Given the description of an element on the screen output the (x, y) to click on. 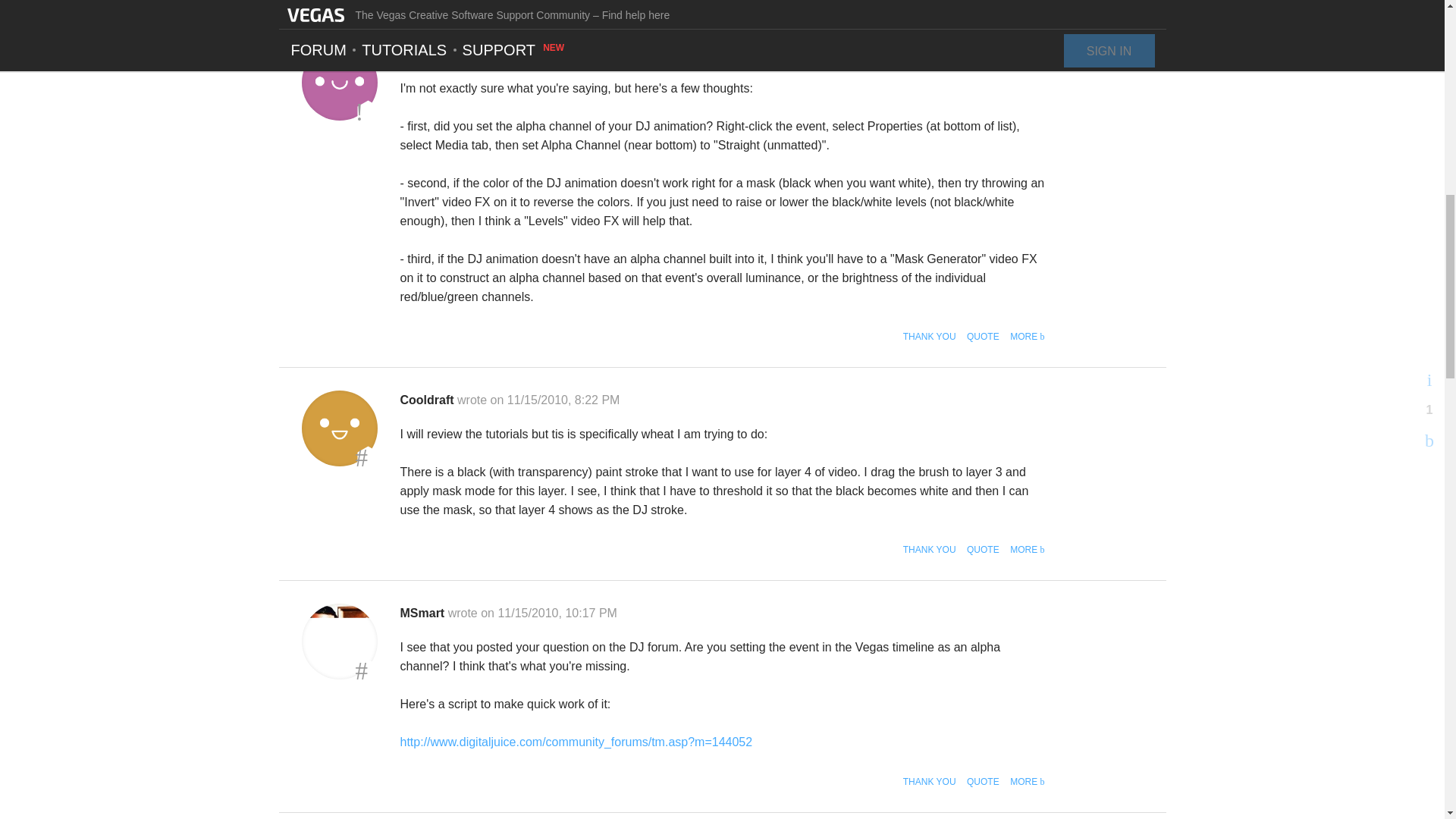
MSmart (339, 641)
Cooldraft (339, 428)
Tattoo (339, 82)
